Given the description of an element on the screen output the (x, y) to click on. 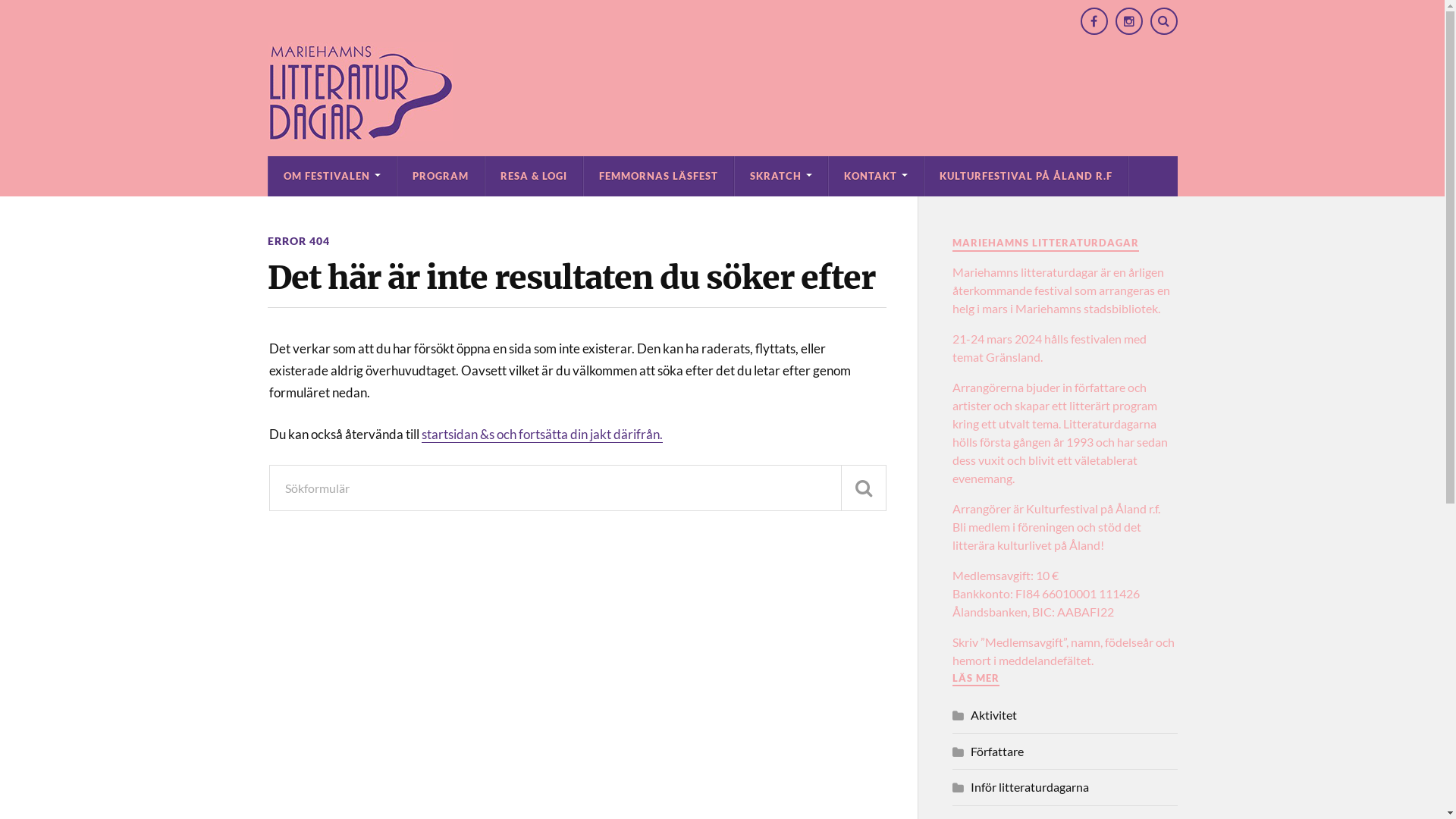
OM FESTIVALEN Element type: text (331, 176)
KONTAKT Element type: text (875, 176)
RESA & LOGI Element type: text (533, 176)
SKRATCH Element type: text (780, 176)
PROGRAM Element type: text (440, 176)
Aktivitet Element type: text (993, 714)
